Given the description of an element on the screen output the (x, y) to click on. 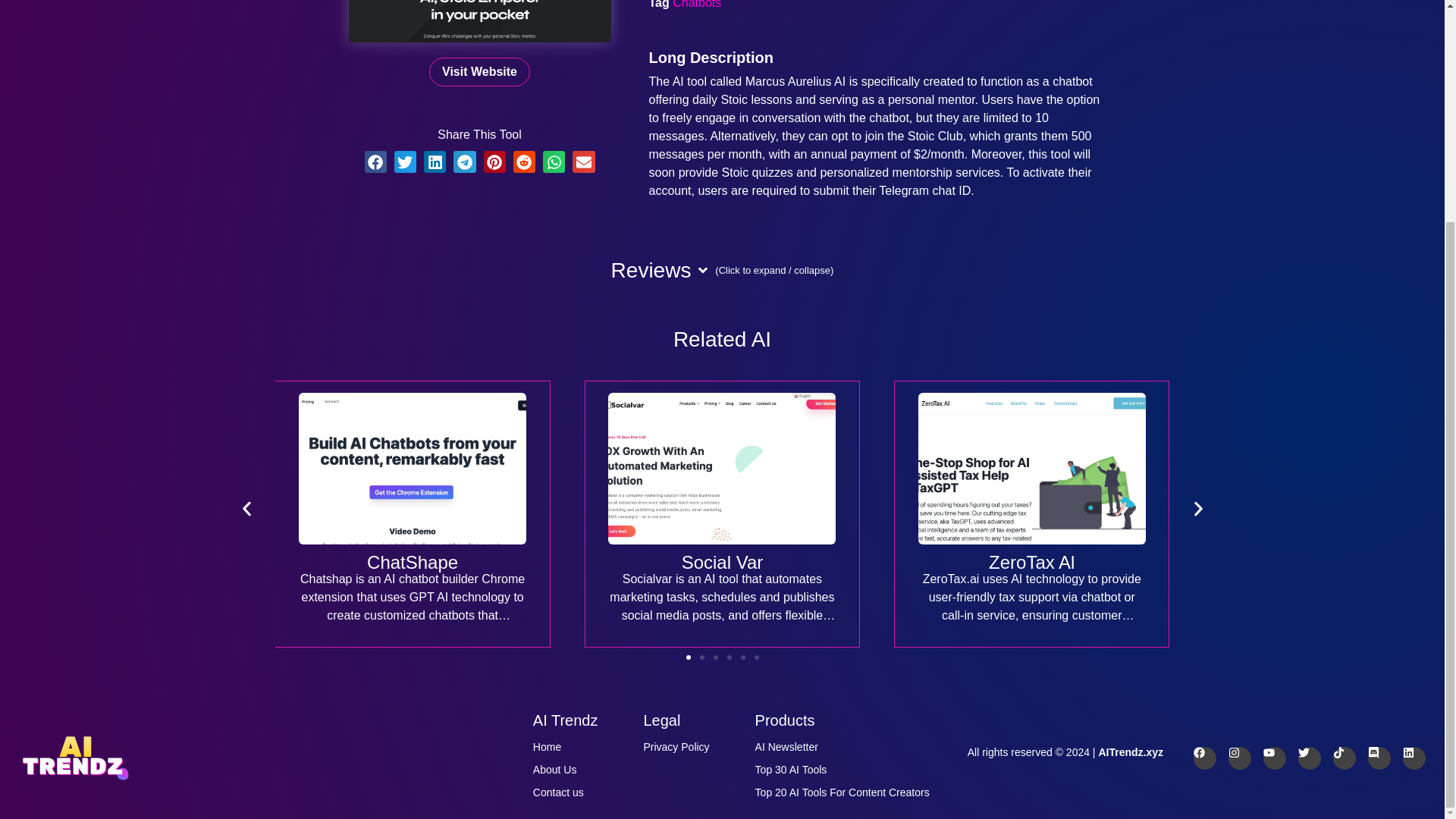
marcus-aurelius-ai (480, 21)
